Given the description of an element on the screen output the (x, y) to click on. 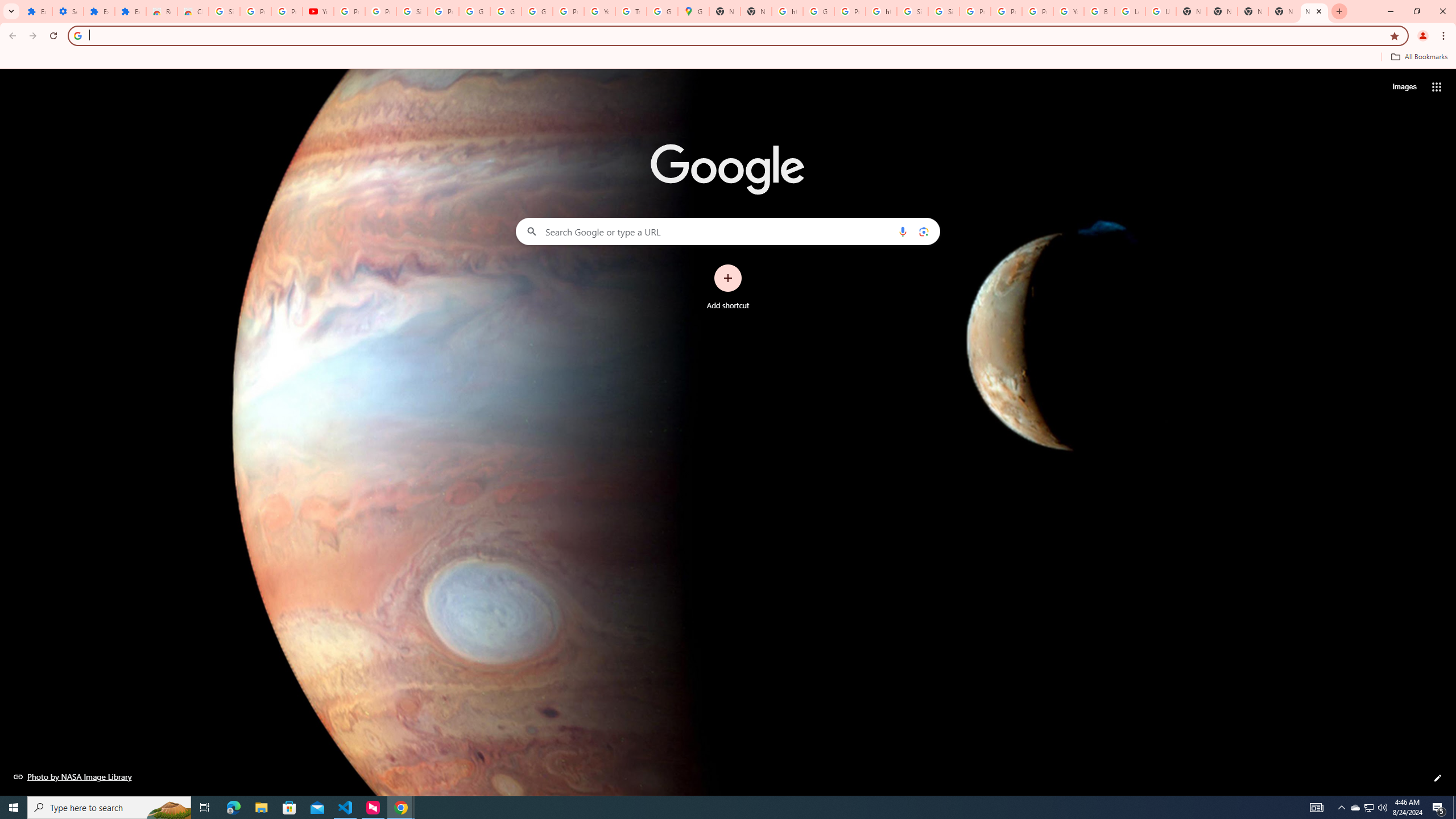
Bookmarks (728, 58)
Photo by NASA Image Library (72, 776)
https://scholar.google.com/ (881, 11)
YouTube (1068, 11)
Browse Chrome as a guest - Computer - Google Chrome Help (1098, 11)
All Bookmarks (1418, 56)
Search by voice (902, 230)
New Tab (1252, 11)
Search by image (922, 230)
Google Account (505, 11)
YouTube (599, 11)
